Given the description of an element on the screen output the (x, y) to click on. 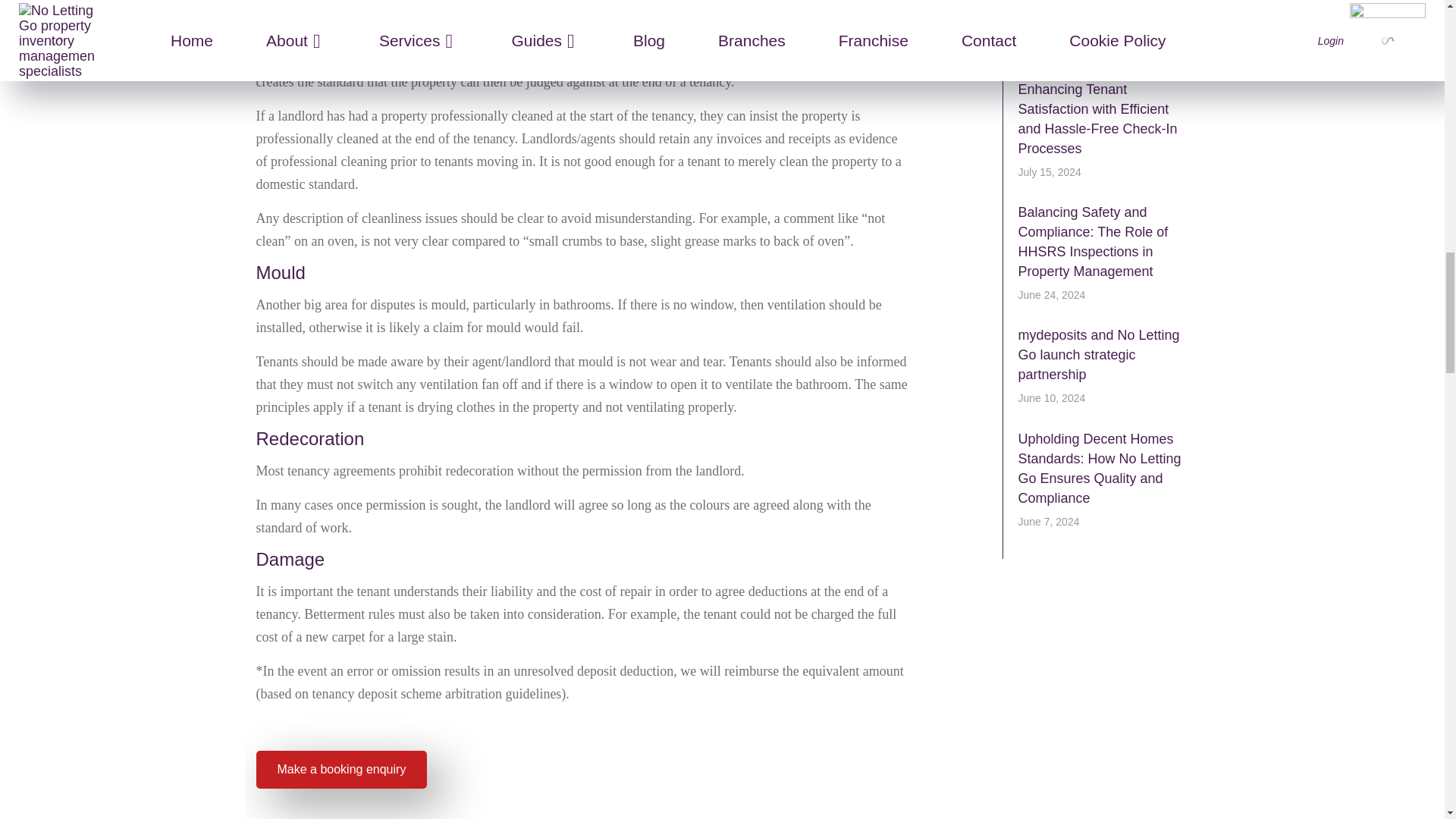
mydeposits and No Letting Go launch strategic partnership (1098, 354)
